Given the description of an element on the screen output the (x, y) to click on. 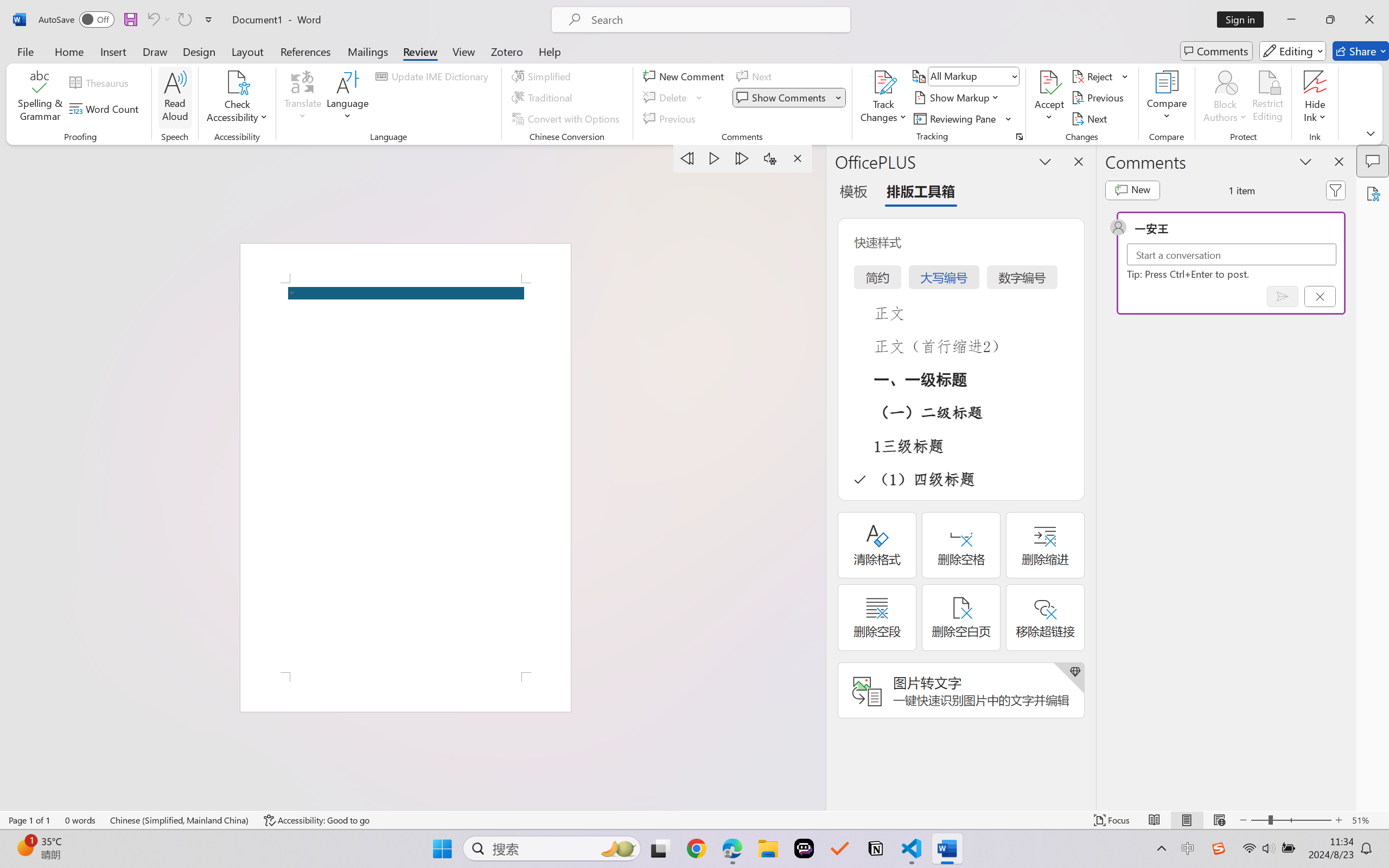
Reviewing Pane (962, 118)
Repeat Accessibility Checker (184, 19)
Compare (1166, 97)
Accessibility Assistant (1373, 193)
Reviewing Pane (955, 118)
Restrict Editing (1267, 97)
